Given the description of an element on the screen output the (x, y) to click on. 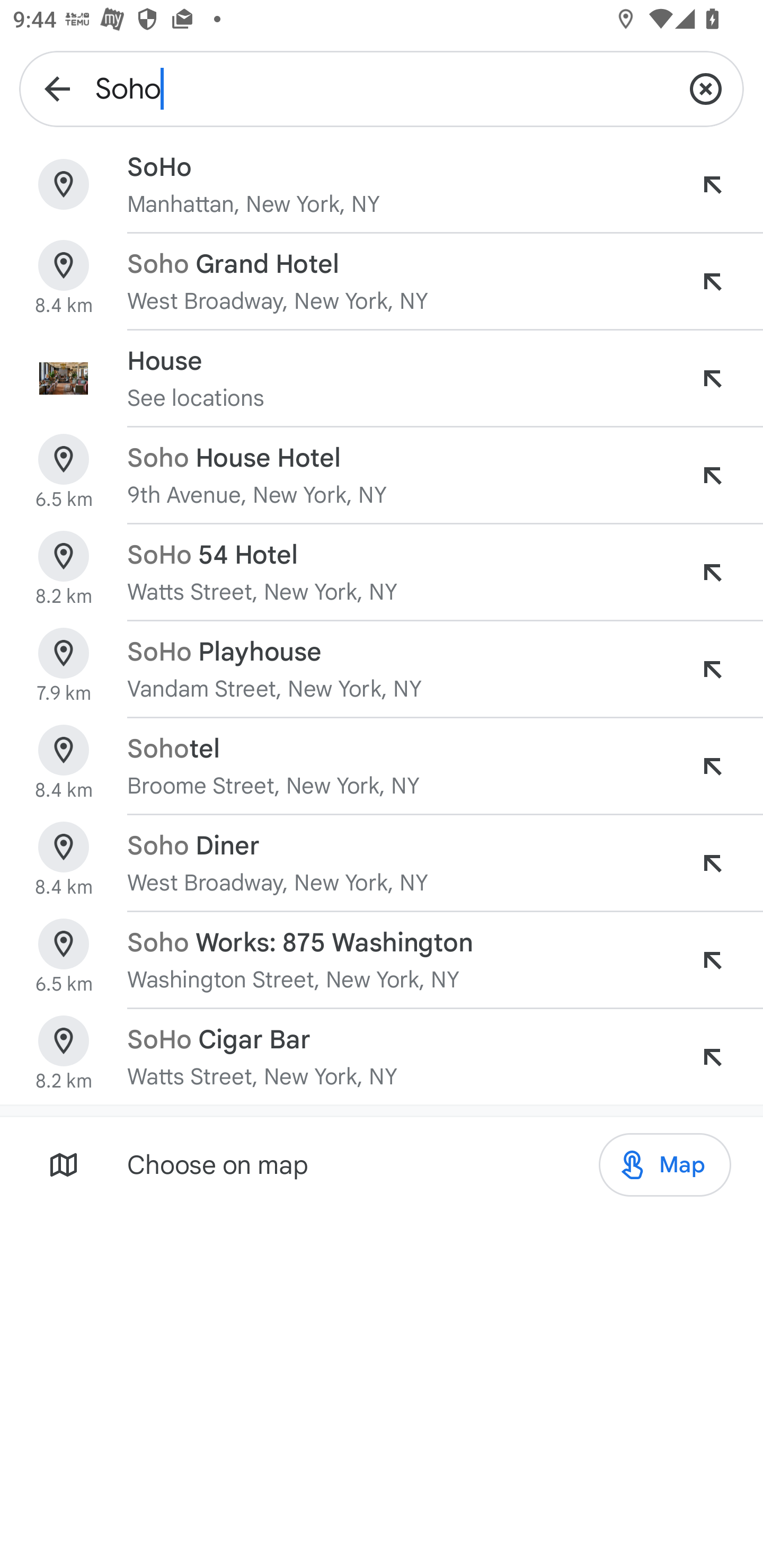
Navigate up (57, 88)
Soho (381, 88)
Clear (705, 88)
Activate to enter suggestion SoHo into search bar (711, 183)
Activate to enter suggestion House into search bar (711, 378)
Choose on map Map Map Map (381, 1164)
Map Map Map (664, 1164)
